Given the description of an element on the screen output the (x, y) to click on. 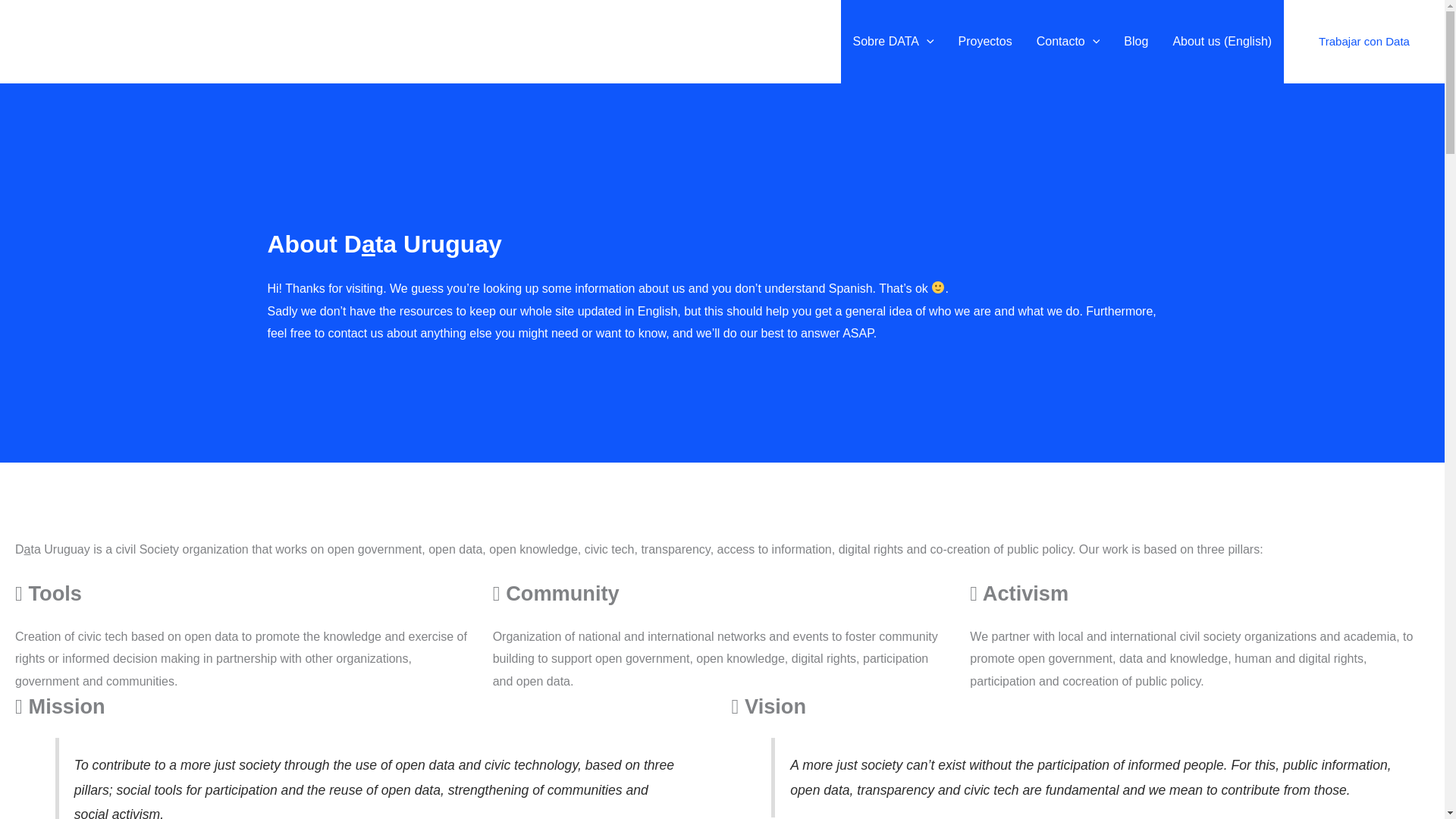
Contacto (1068, 41)
Sobre DATA (893, 41)
Trabajar con Data (1363, 41)
Proyectos (985, 41)
